Given the description of an element on the screen output the (x, y) to click on. 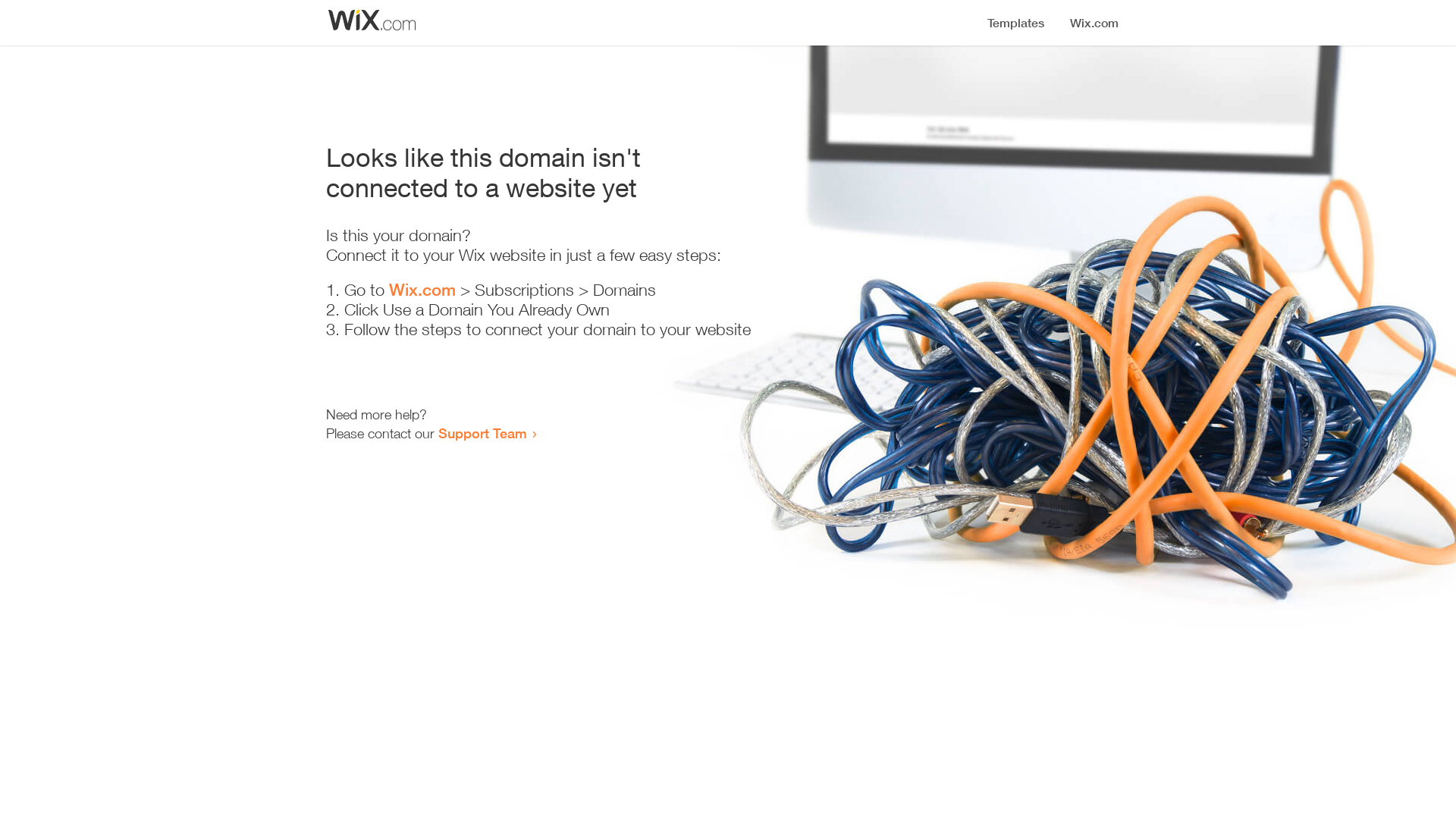
Wix.com Element type: text (422, 289)
Support Team Element type: text (482, 432)
